Given the description of an element on the screen output the (x, y) to click on. 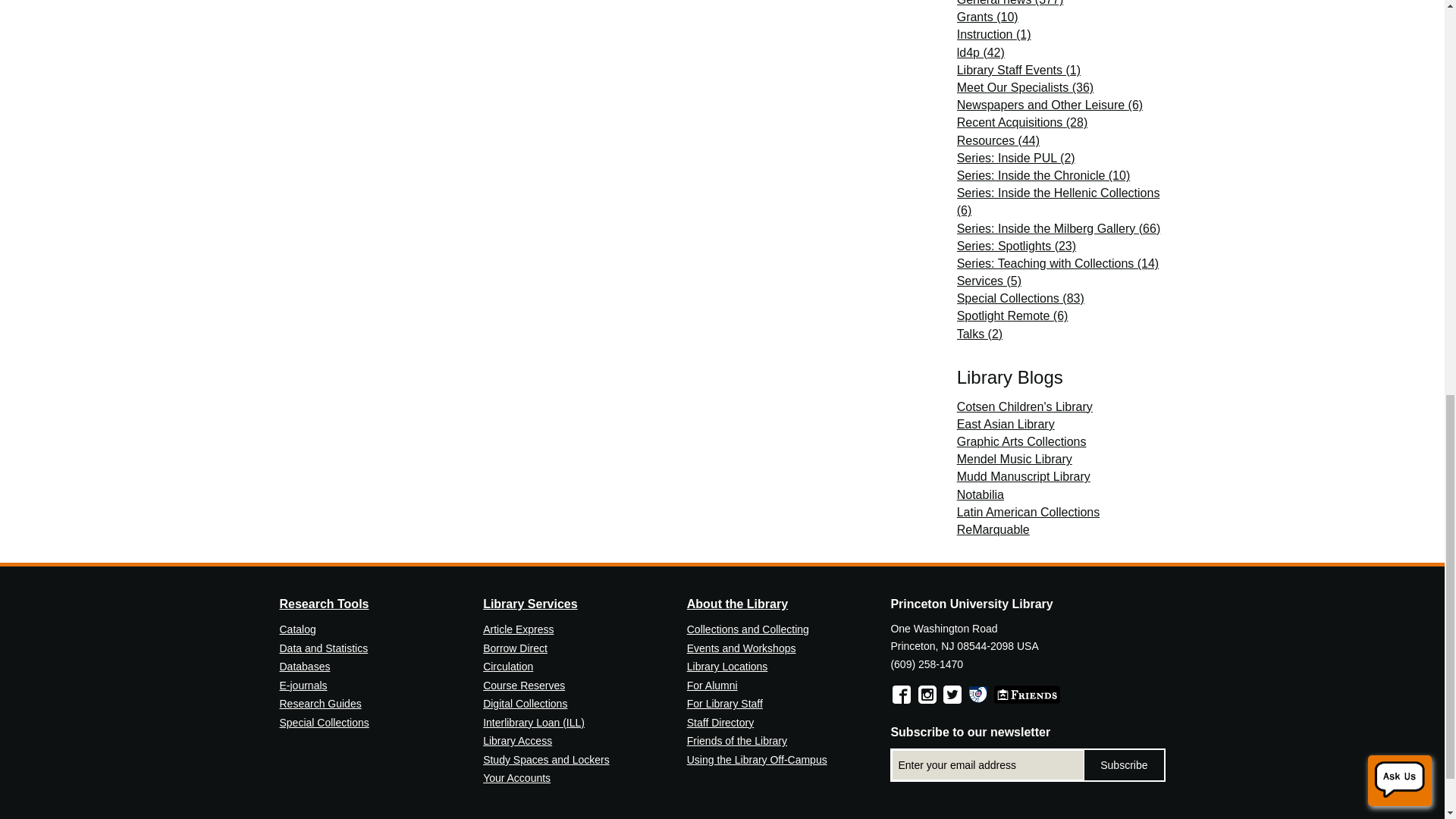
Subscribe (1123, 765)
Government Documents Depository (978, 694)
Like us on Facebook (901, 694)
Interlibrary Loan Services, Article Express (534, 722)
Mudd Manuscript Library Blog (1023, 476)
Friends of the Library (1026, 694)
Follow us on Twitter (951, 694)
Use our Interlibrary Loan and Article Express Services (518, 629)
Follow us on Instagram (927, 694)
